Given the description of an element on the screen output the (x, y) to click on. 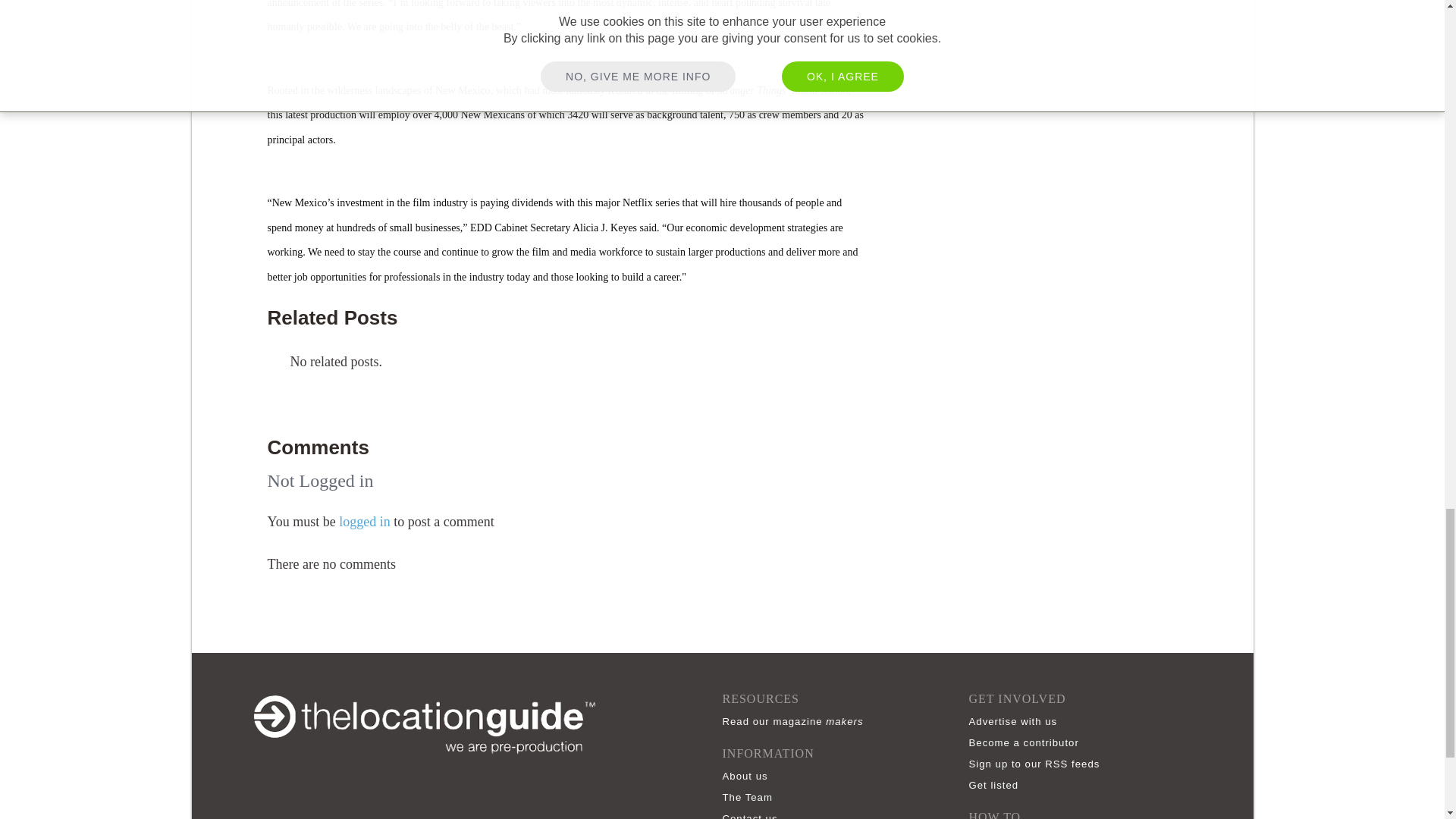
Contact us (753, 816)
Read our magazine makers (796, 721)
The Team (750, 797)
About us (748, 776)
logged in (364, 521)
